Given the description of an element on the screen output the (x, y) to click on. 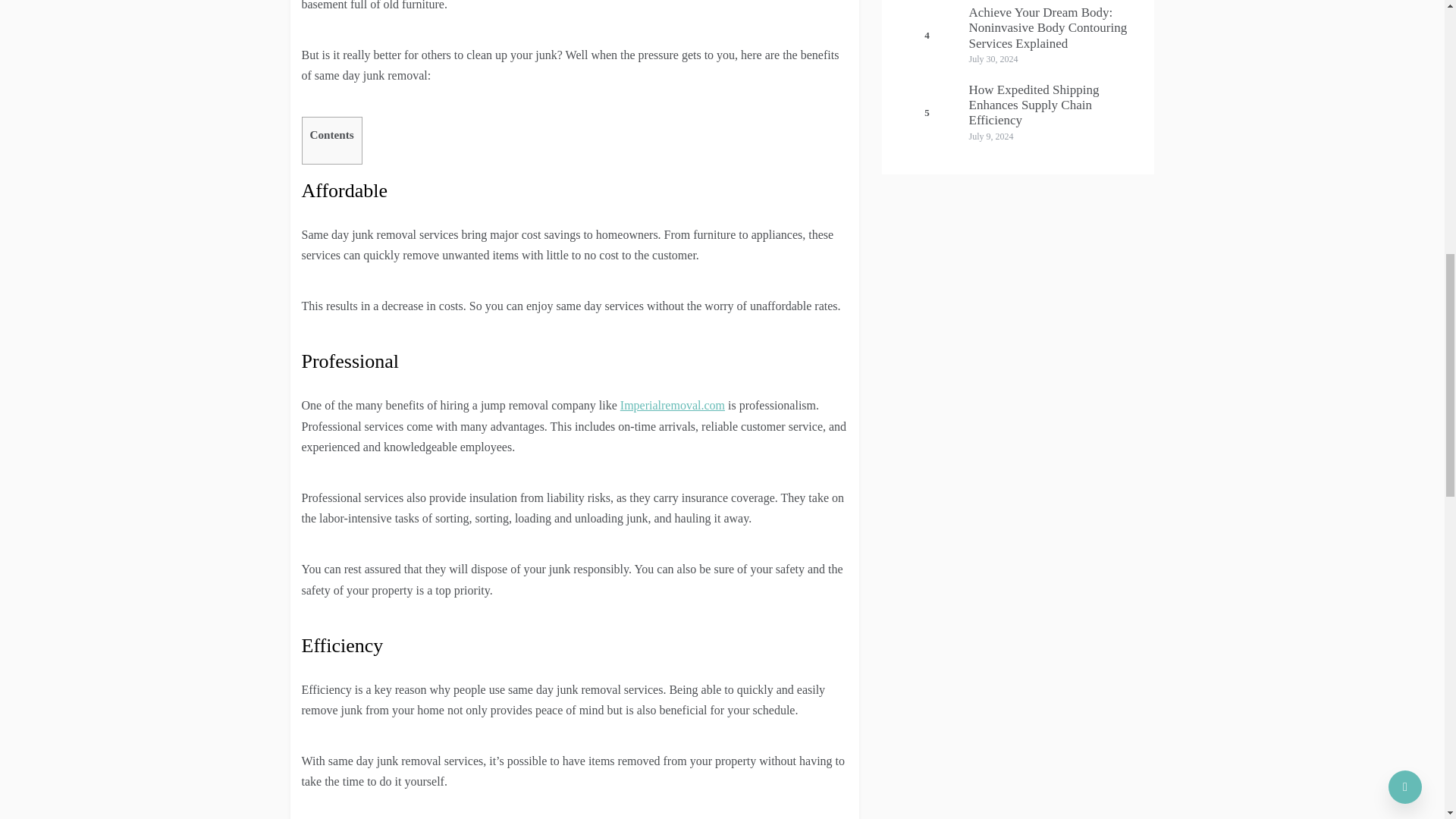
Imperialremoval.com (672, 404)
How Expedited Shipping Enhances Supply Chain Efficiency (1034, 104)
